Given the description of an element on the screen output the (x, y) to click on. 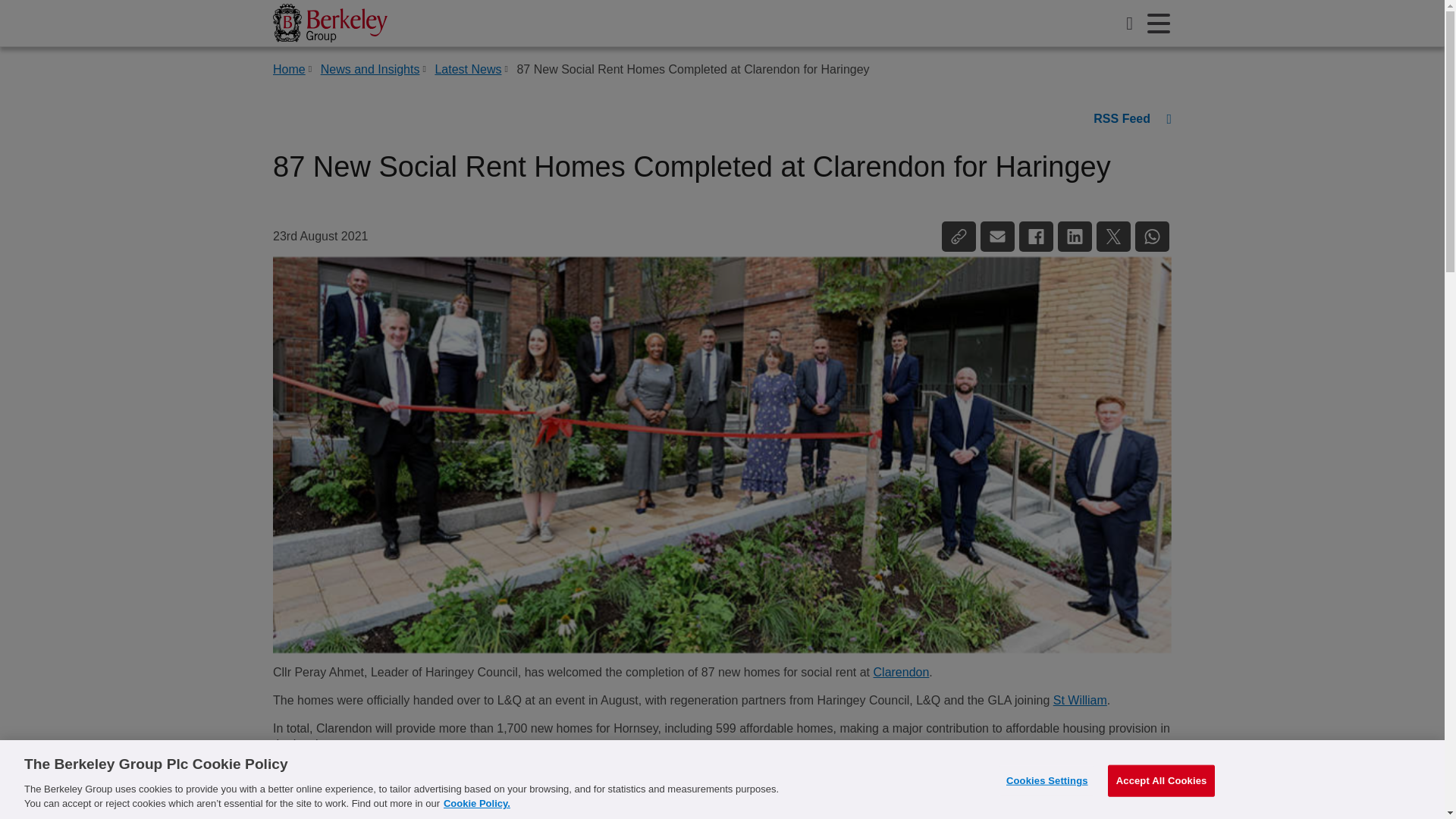
Berkeley Group PLC logo (330, 23)
Search (1129, 22)
